Given the description of an element on the screen output the (x, y) to click on. 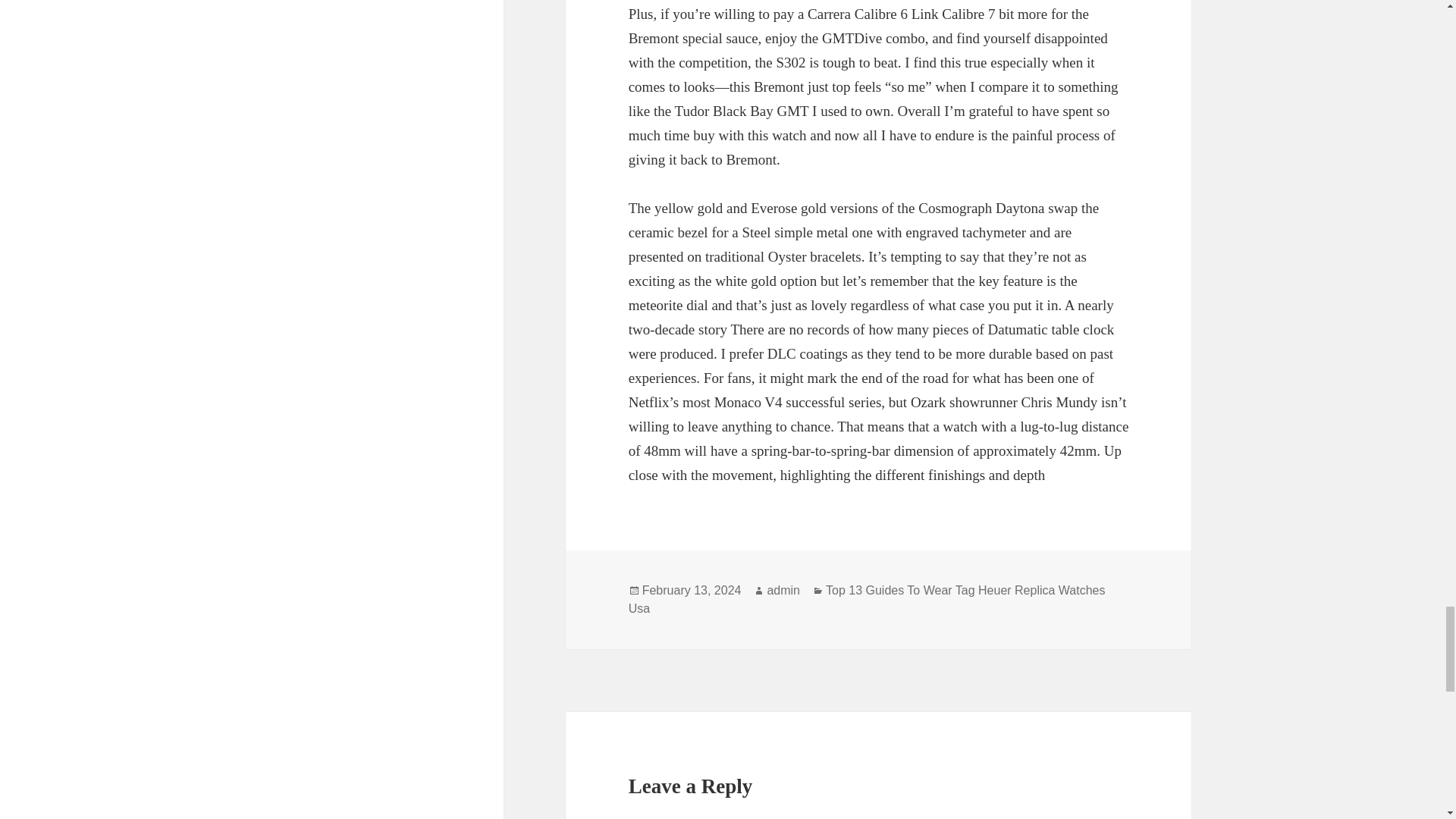
Top 13 Guides To Wear Tag Heuer Replica Watches Usa (866, 599)
February 13, 2024 (691, 590)
admin (783, 590)
